Given the description of an element on the screen output the (x, y) to click on. 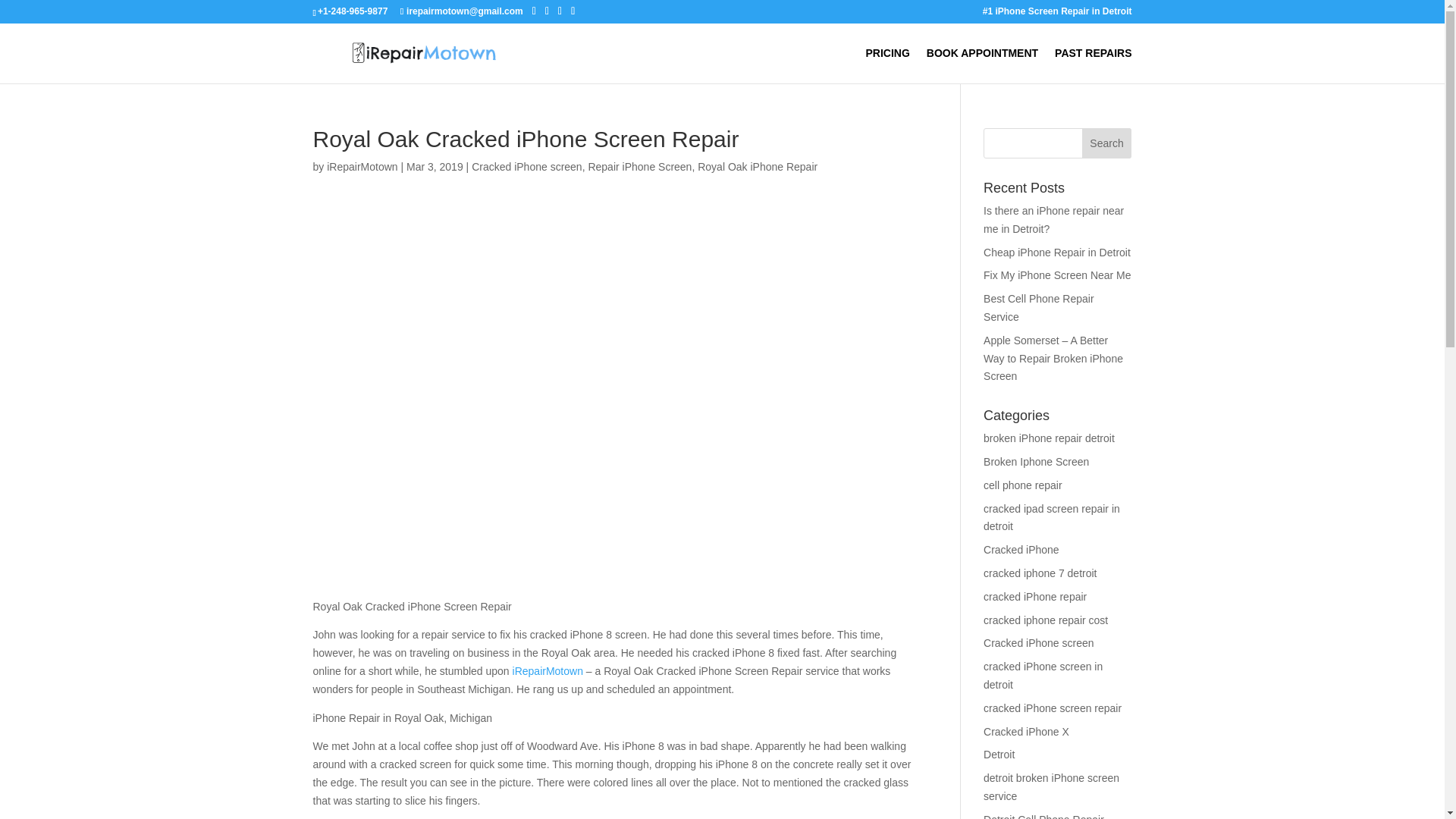
Search (1106, 142)
Cracked iPhone (1021, 549)
broken iPhone repair detroit (1049, 438)
Detroit (999, 754)
Is there an iPhone repair near me in Detroit? (1054, 219)
PRICING (888, 65)
Posts by iRepairMotown (361, 166)
PAST REPAIRS (1092, 65)
Search (1106, 142)
Cracked iPhone screen (1039, 643)
